Given the description of an element on the screen output the (x, y) to click on. 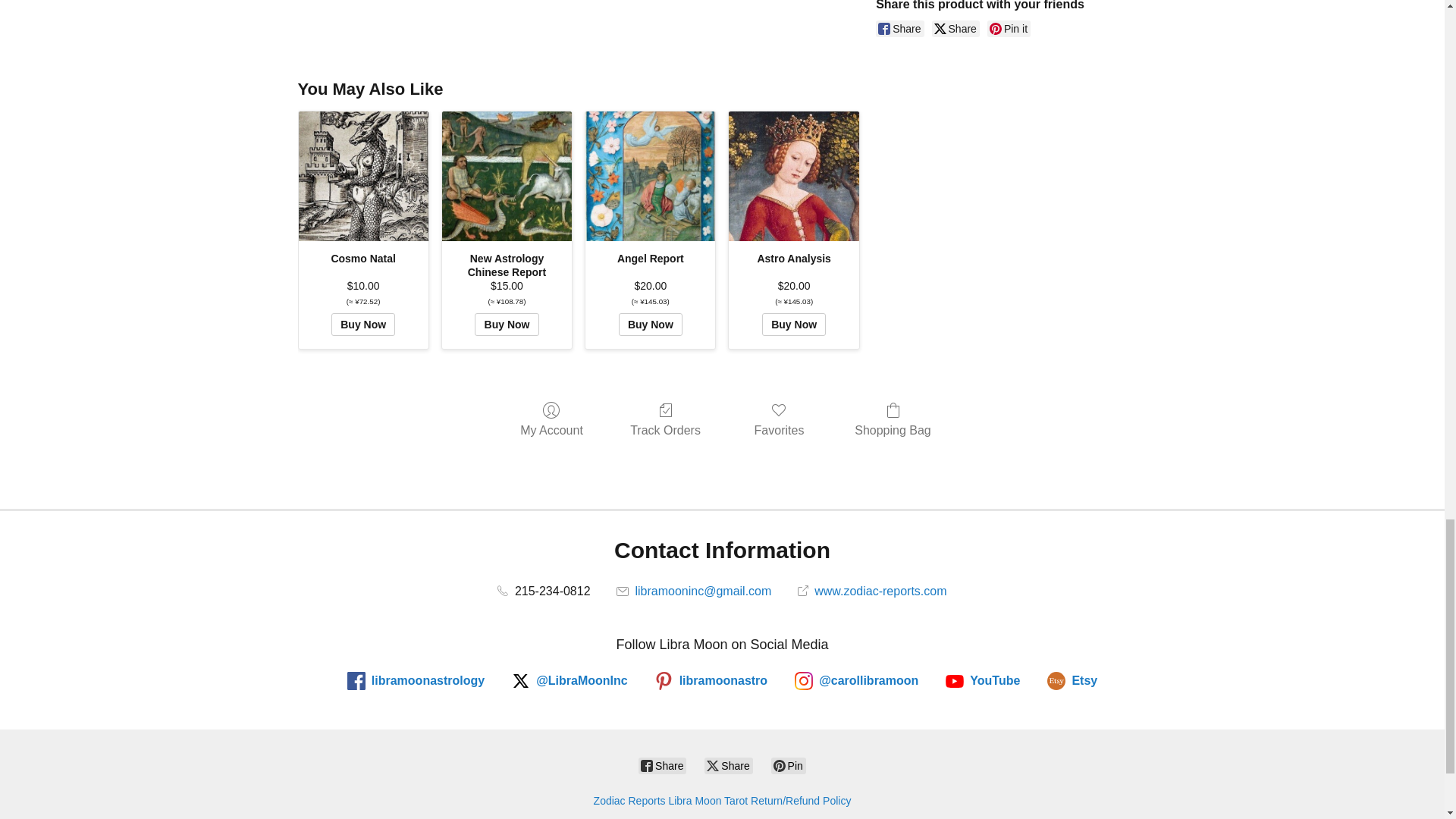
Share (955, 28)
Angel Report (649, 175)
Astro Analysis (794, 175)
New Astrology Chinese Report (507, 175)
Share (899, 28)
Angel Report (649, 175)
Cosmo Natal (363, 175)
Cosmo Natal (363, 175)
Astro Analysis (793, 175)
New Astrology Chinese Report (506, 175)
